Given the description of an element on the screen output the (x, y) to click on. 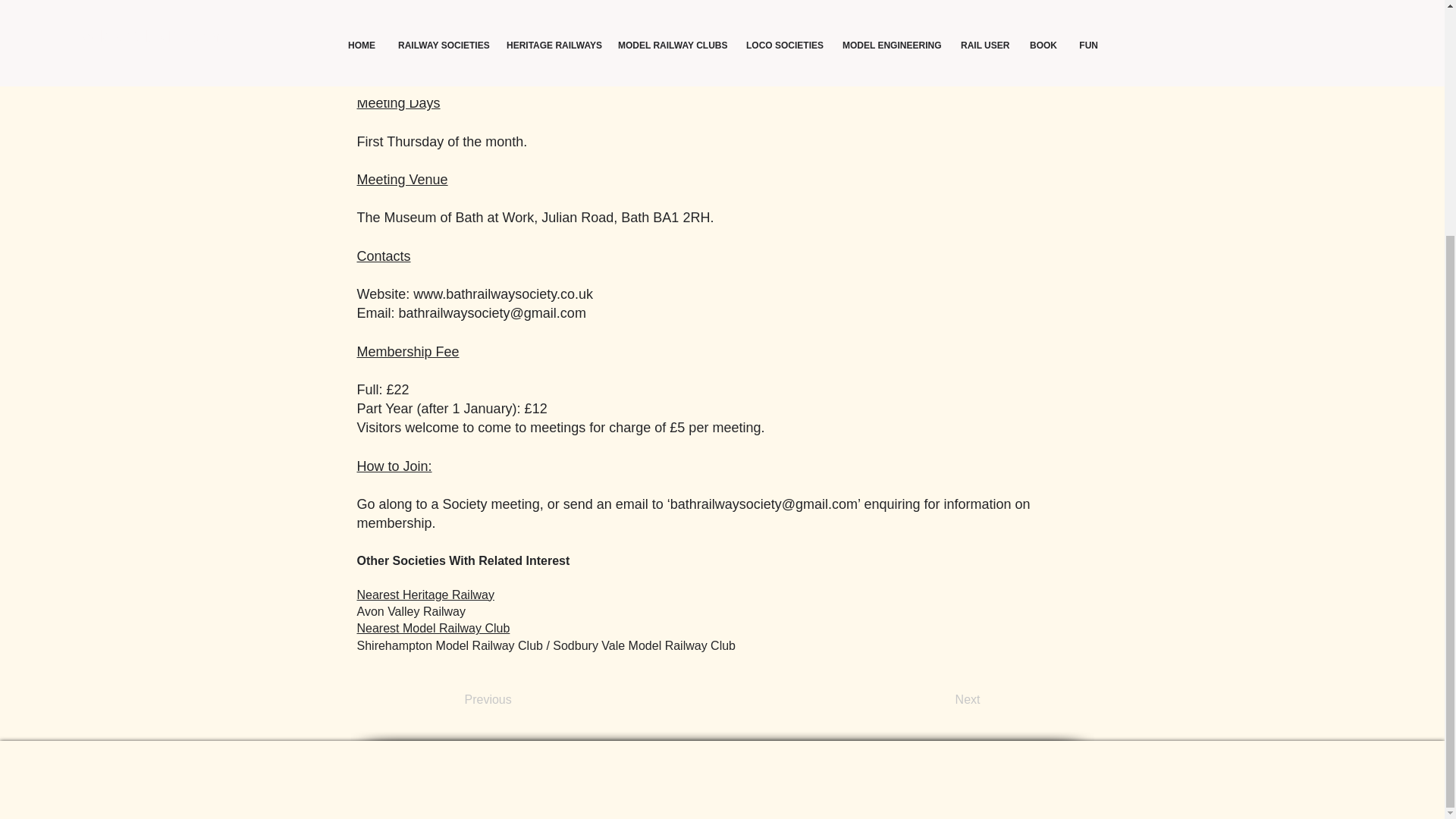
www.bathrailwaysociety.co.uk (502, 294)
Next (941, 699)
Previous (514, 699)
